Given the description of an element on the screen output the (x, y) to click on. 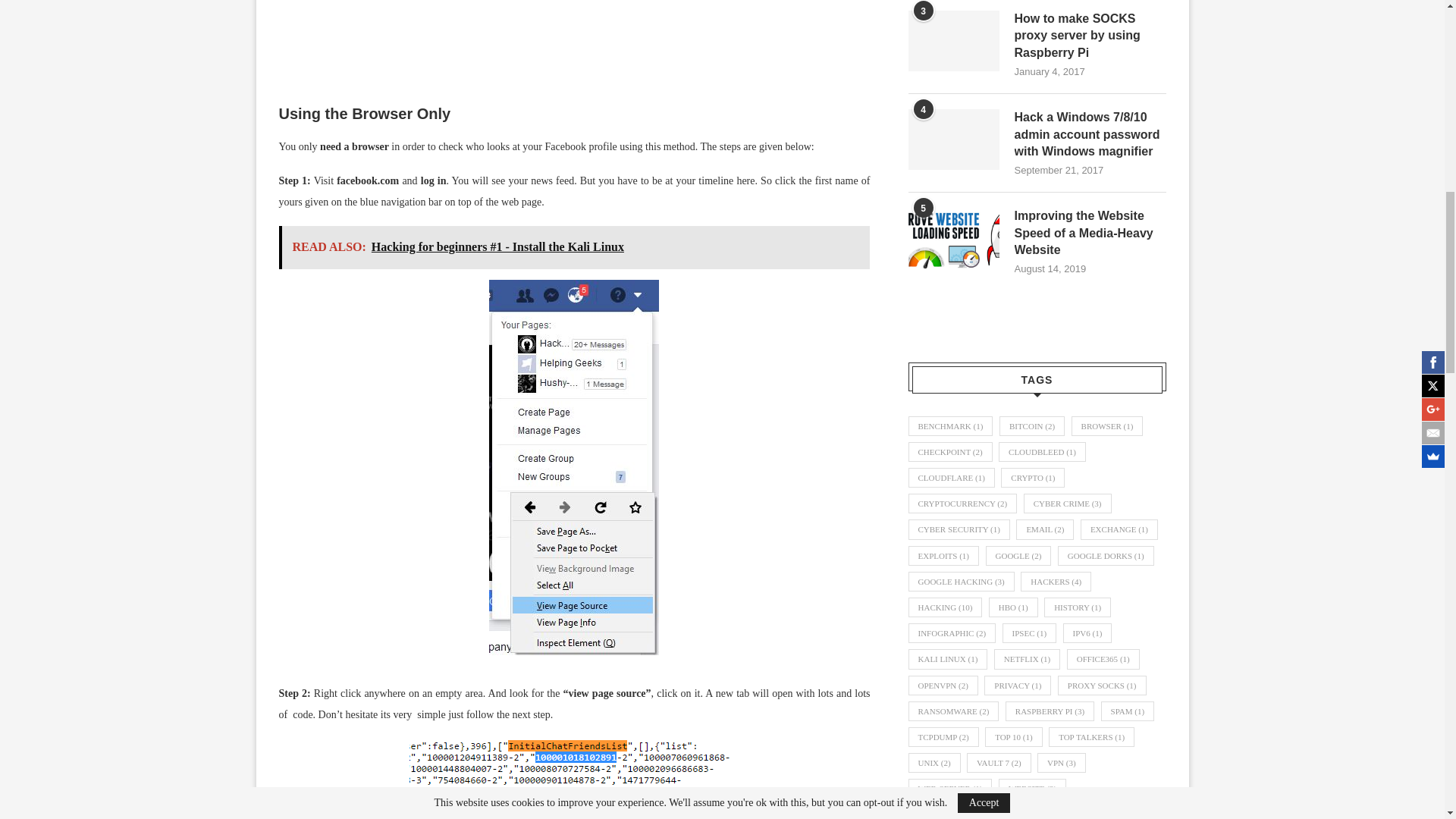
Advertisement (574, 44)
